Given the description of an element on the screen output the (x, y) to click on. 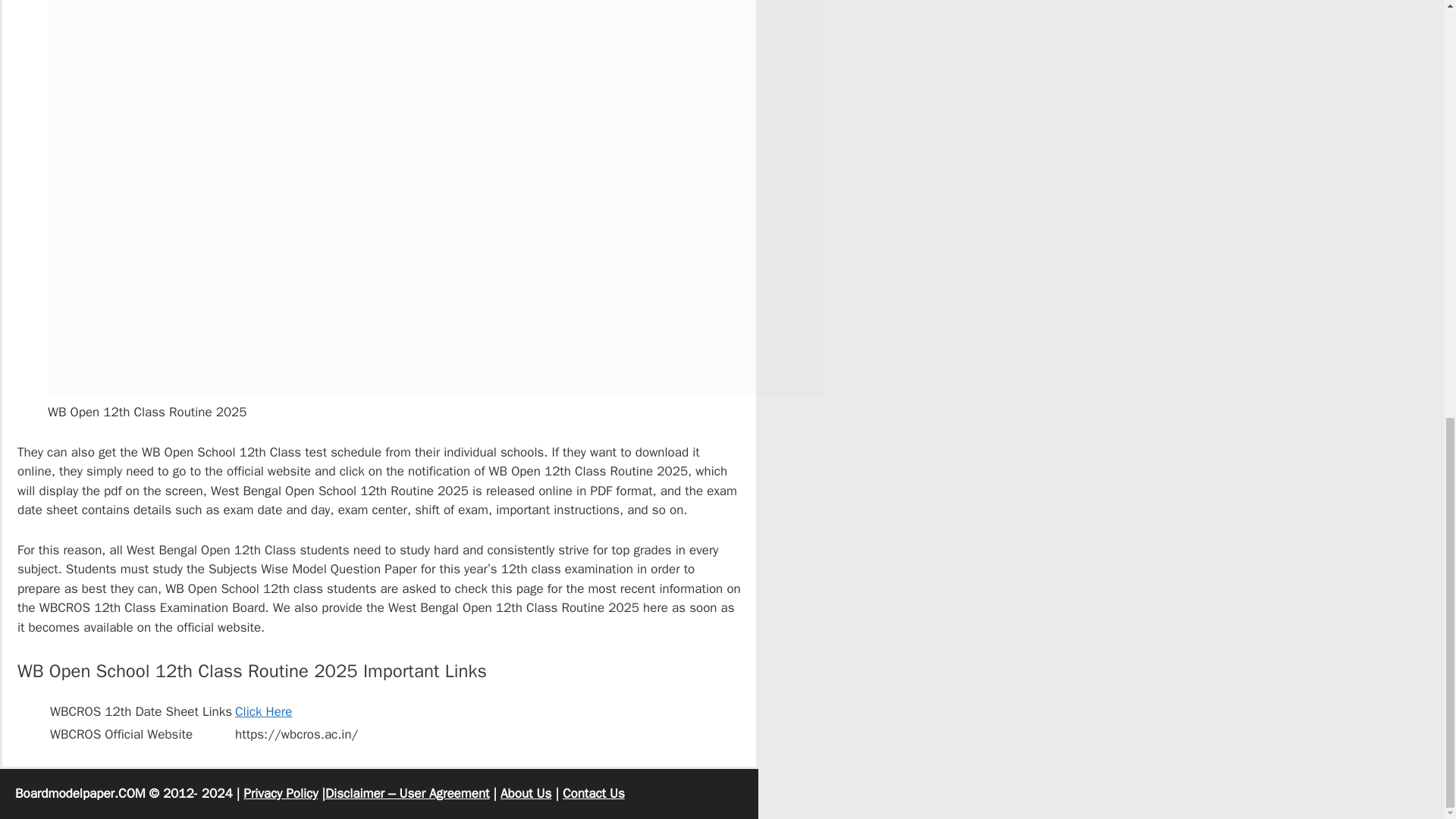
About Us (525, 793)
Click Here (263, 711)
Contact Us (593, 793)
Privacy Policy (280, 793)
